Given the description of an element on the screen output the (x, y) to click on. 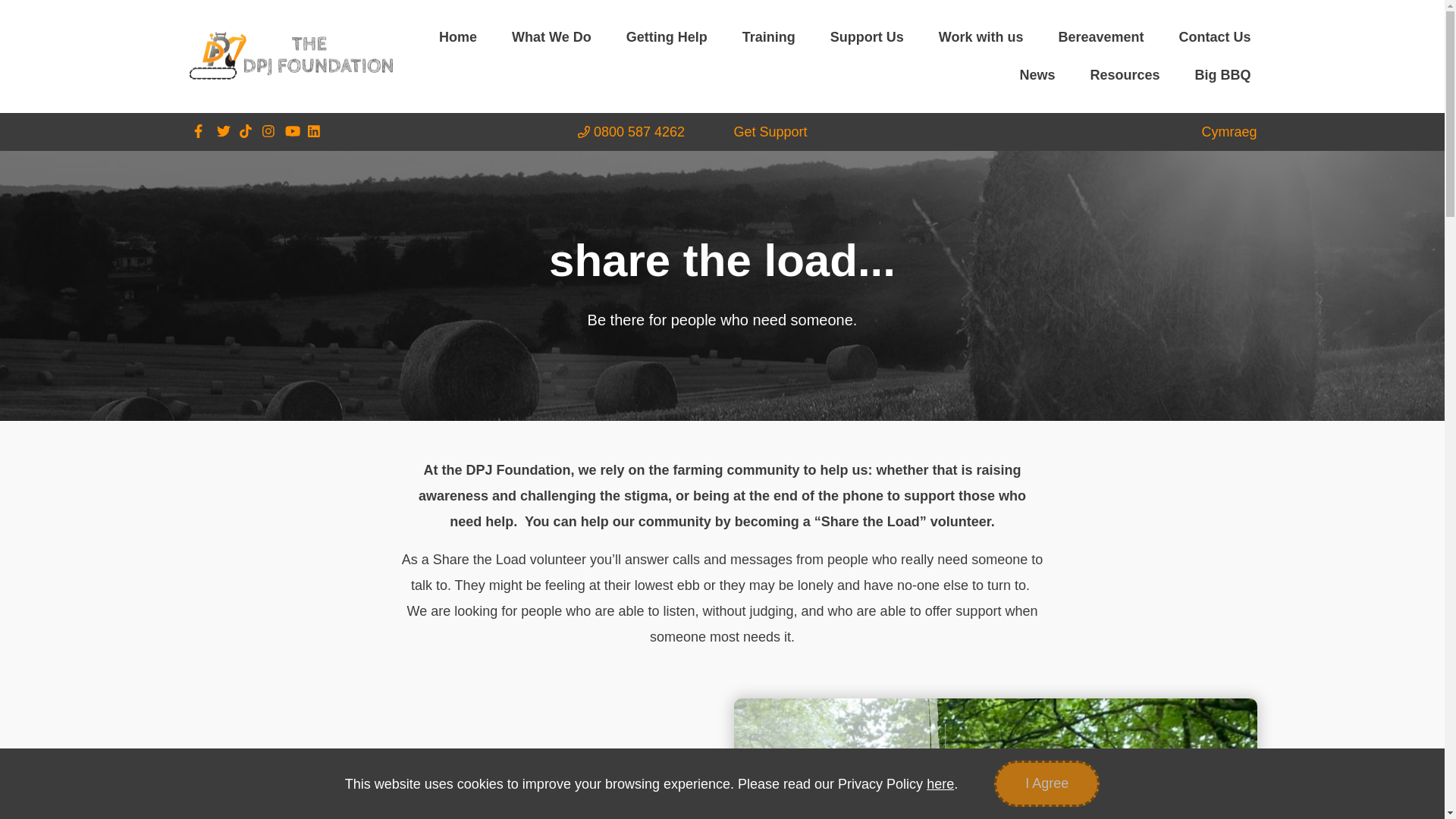
Training (769, 37)
Home (457, 37)
Support Us (867, 37)
Big BBQ (1223, 75)
What We Do (550, 37)
Contact Us (1214, 37)
0800 587 4262 (636, 131)
Bereavement (1100, 37)
What We Do (550, 37)
Cymraeg (1228, 131)
